Given the description of an element on the screen output the (x, y) to click on. 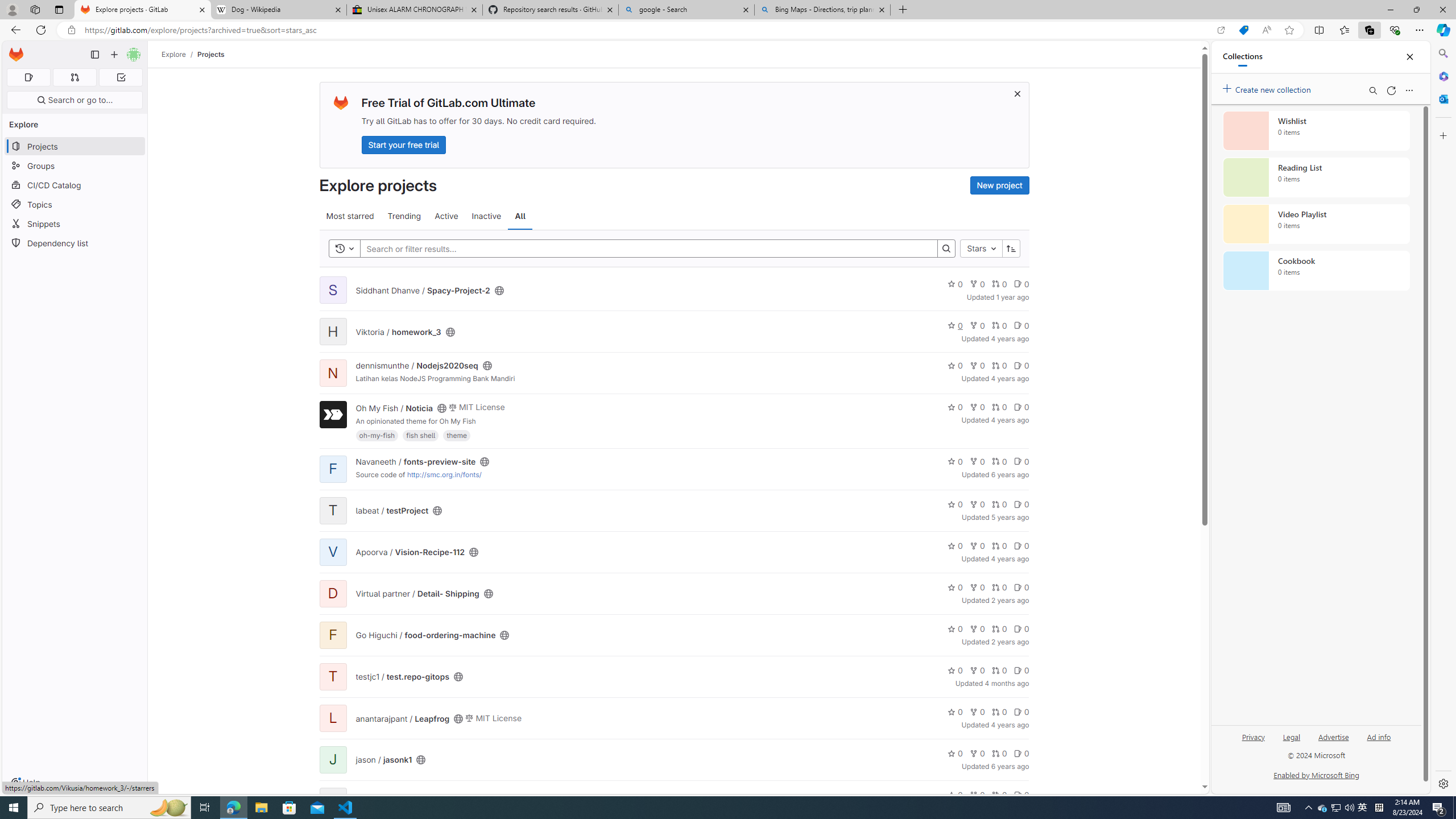
Snippets (74, 223)
Apoorva / Vision-Recipe-112 (409, 552)
Merge requests 0 (74, 76)
Explore (173, 53)
Siddhant Dhanve / Spacy-Project-2 (422, 289)
Class: project (332, 415)
labeat / testProject (392, 510)
Virtual partner / Detail- Shipping (417, 593)
Side bar (1443, 418)
Topics (74, 203)
Advertise (1333, 736)
Wishlist collection, 0 items (1316, 130)
Privacy (1253, 736)
